Given the description of an element on the screen output the (x, y) to click on. 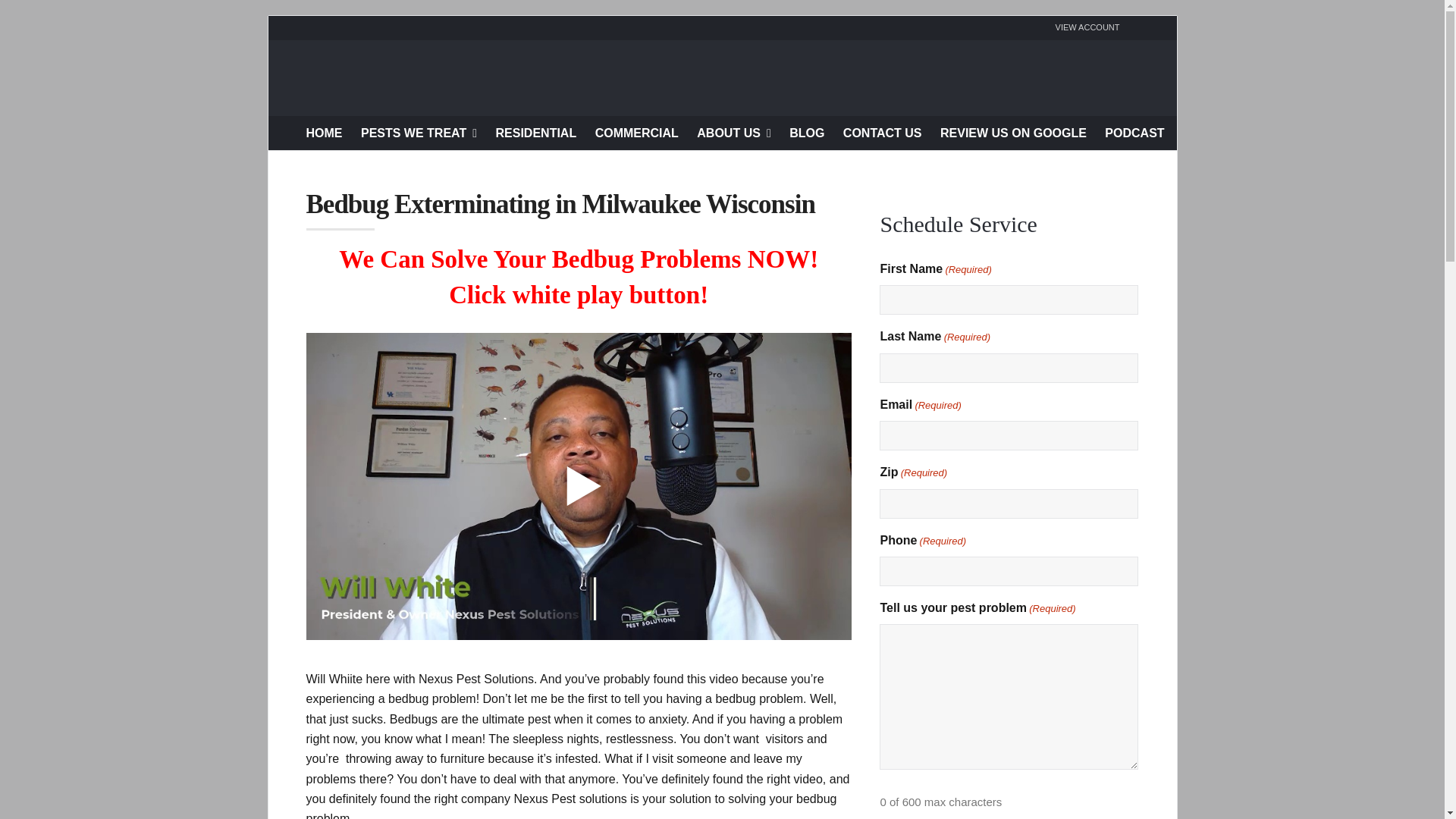
RESIDENTIAL (536, 132)
CONTACT US (882, 132)
Nexus Pest Solutions (721, 77)
HOME (323, 132)
PESTS WE TREAT (419, 132)
COMMERCIAL (636, 132)
VIEW ACCOUNT (1087, 27)
BLOG (806, 132)
REVIEW US ON GOOGLE (1013, 132)
PODCAST (1134, 132)
ABOUT US (733, 132)
